Given the description of an element on the screen output the (x, y) to click on. 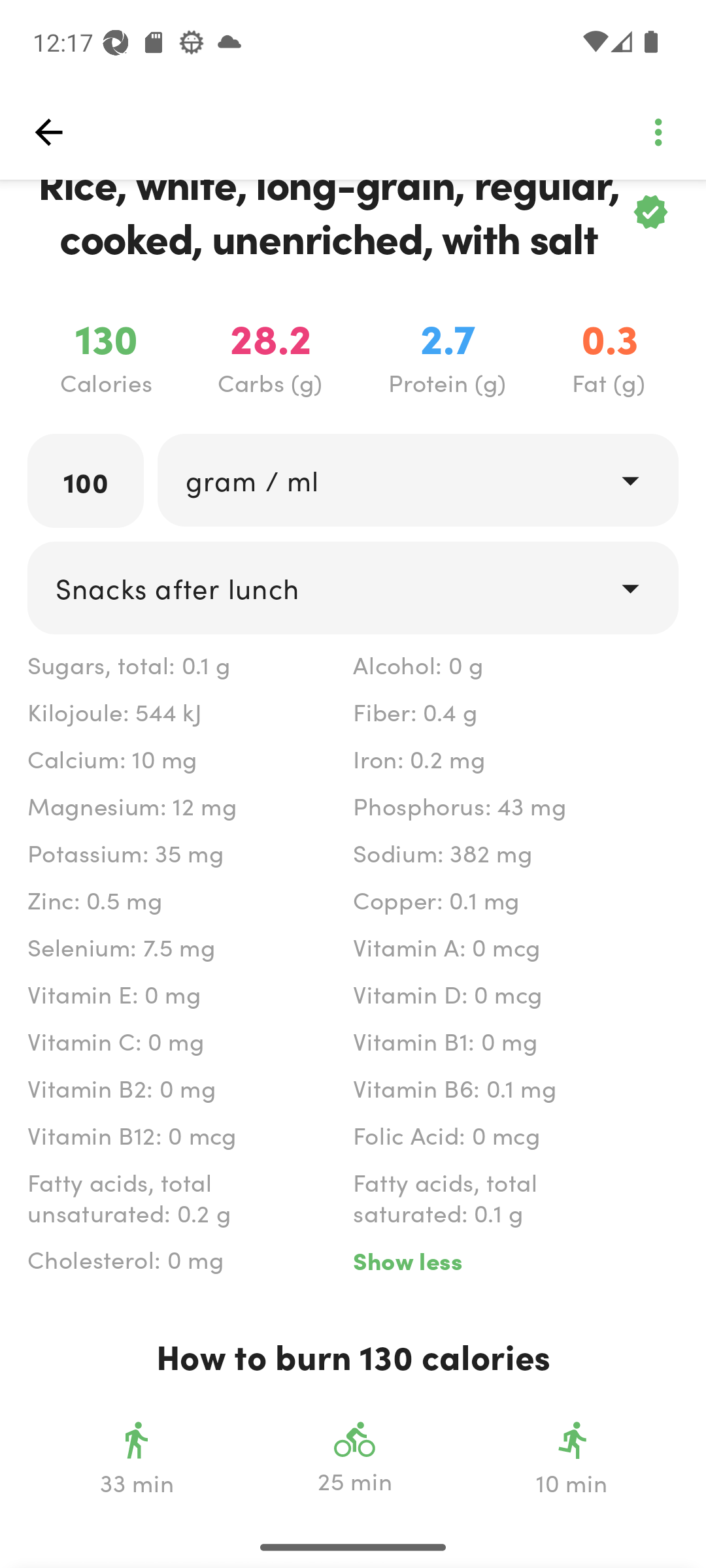
top_left_action (48, 132)
top_left_action (658, 132)
100 labeled_edit_text (85, 481)
drop_down gram / ml (417, 480)
drop_down Snacks after lunch (352, 587)
Show less (515, 1260)
